Given the description of an element on the screen output the (x, y) to click on. 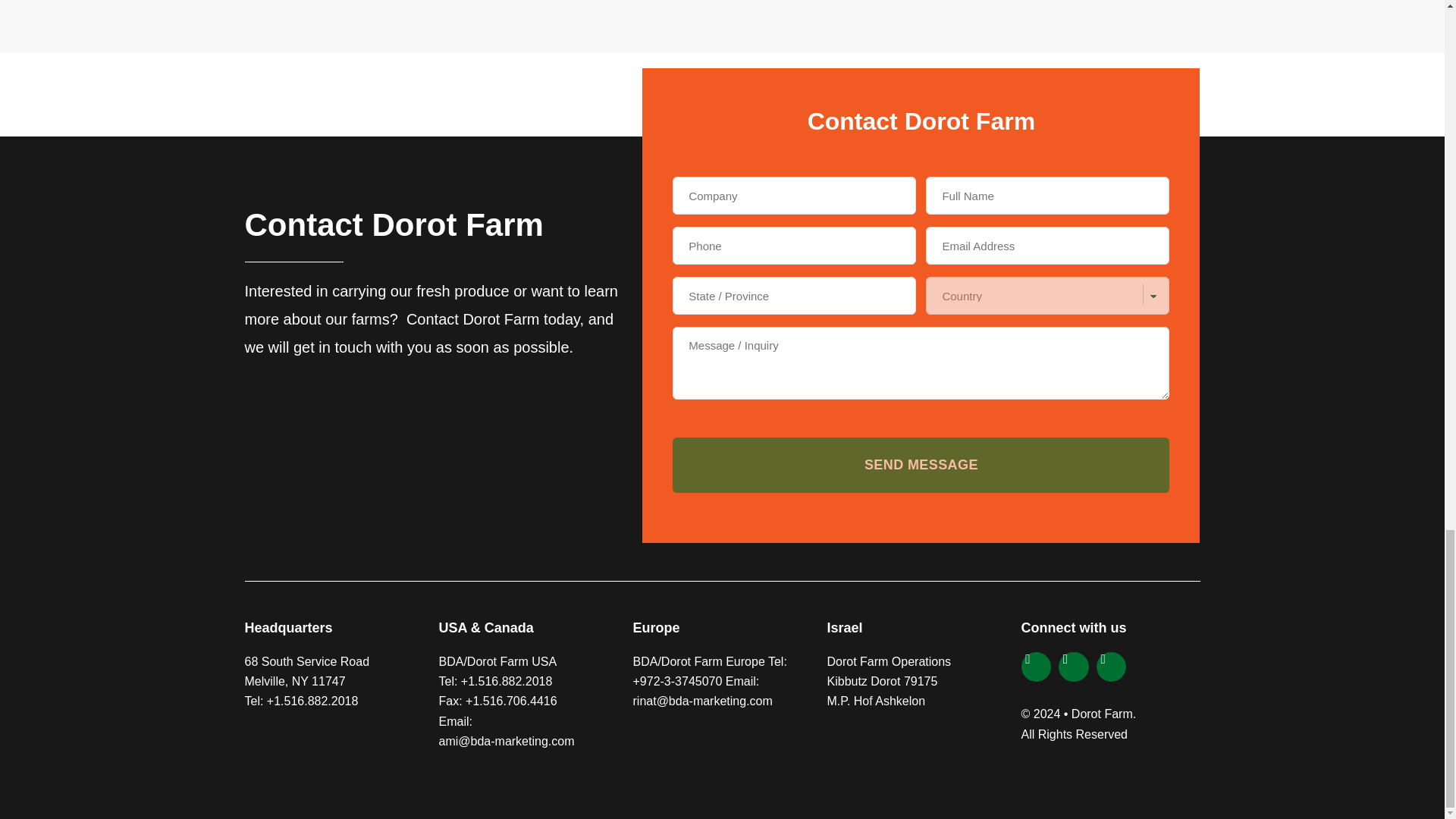
Youtube (1111, 666)
Linkedin-in (1073, 666)
972-3-3745070 (681, 680)
Instagram (1035, 666)
Send Message (920, 465)
Send Message (920, 465)
